Given the description of an element on the screen output the (x, y) to click on. 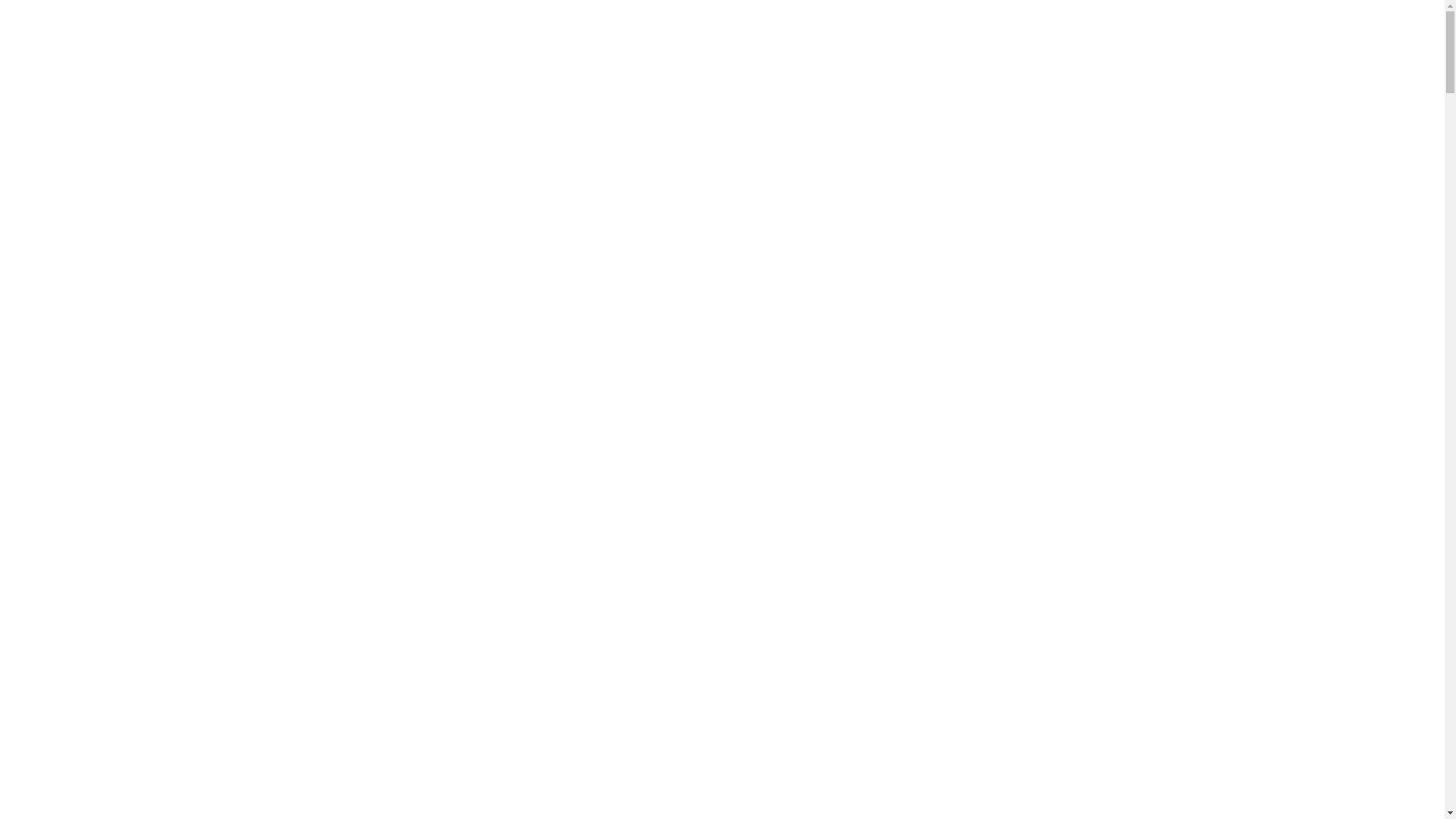
Contact Element type: text (1053, 31)
Supports publicitaires Element type: text (966, 31)
Nos services Element type: text (701, 31)
Home Element type: hover (453, 56)
